Given the description of an element on the screen output the (x, y) to click on. 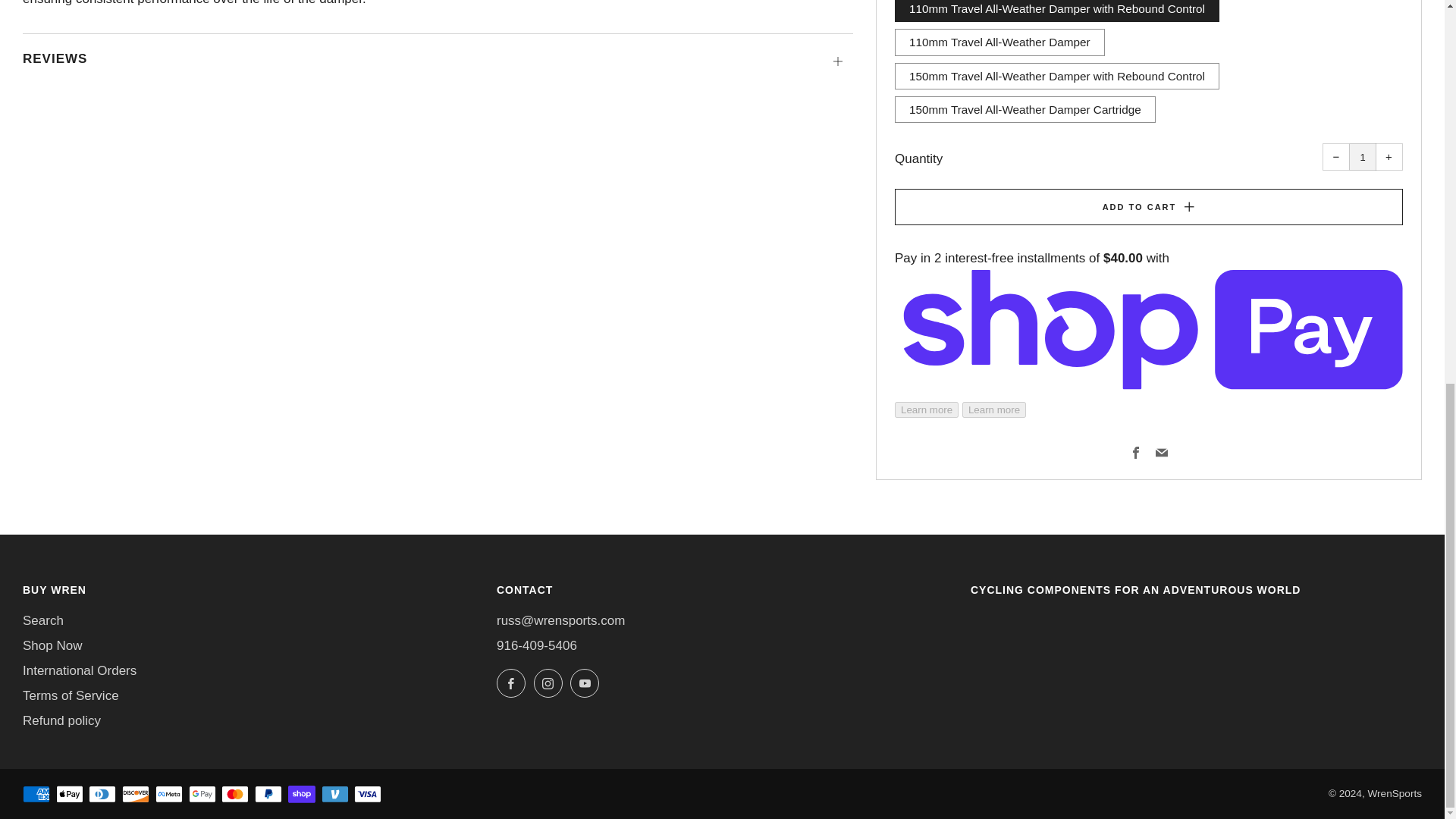
1 (1362, 156)
